Given the description of an element on the screen output the (x, y) to click on. 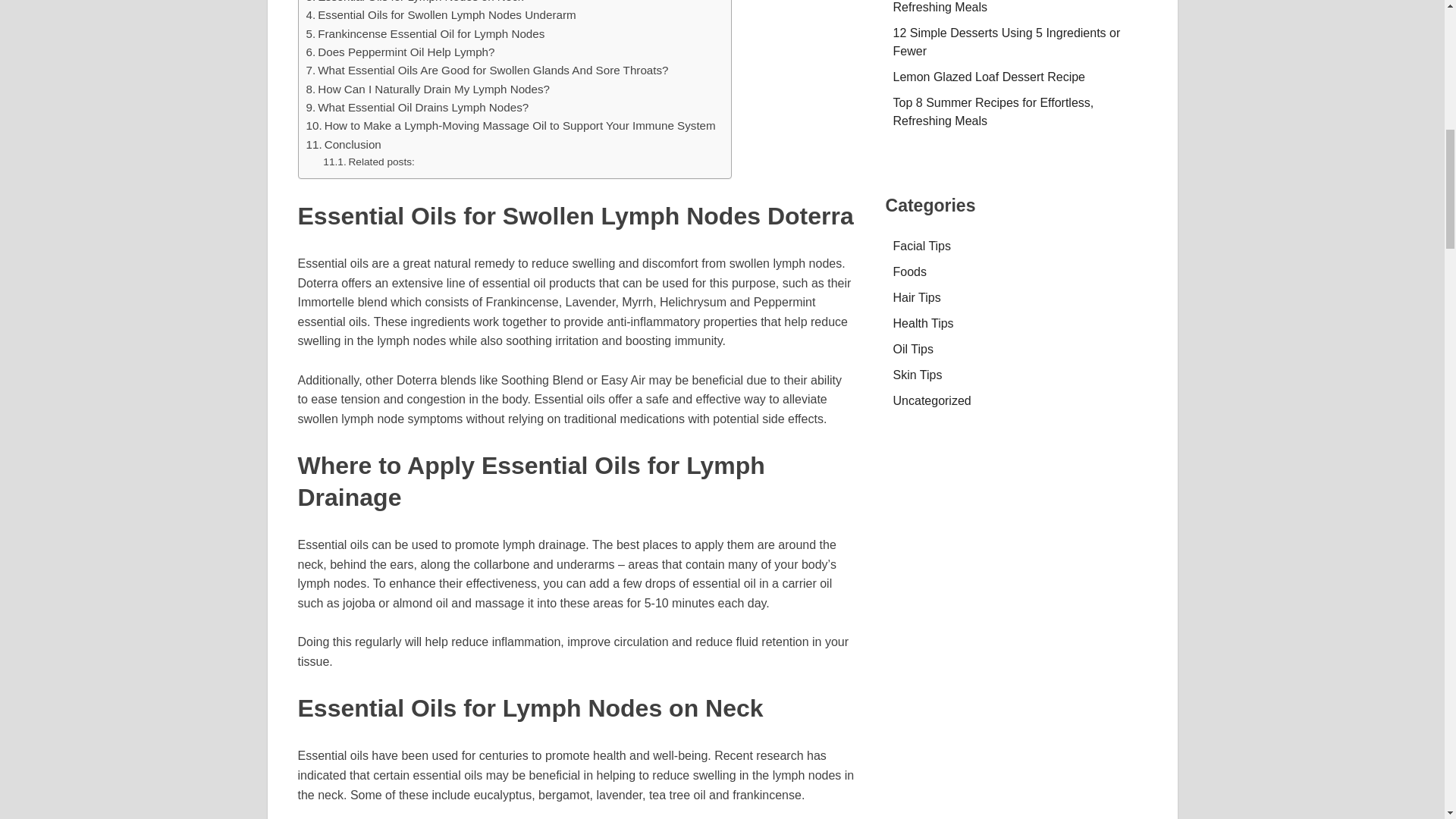
Essential Oils for Swollen Lymph Nodes Underarm (440, 14)
How Can I Naturally Drain My Lymph Nodes? (427, 89)
Frankincense Essential Oil for Lymph Nodes (424, 34)
What Essential Oil Drains Lymph Nodes? (417, 107)
Conclusion (343, 144)
Does Peppermint Oil Help Lymph? (400, 52)
Does Peppermint Oil Help Lymph? (400, 52)
